Given the description of an element on the screen output the (x, y) to click on. 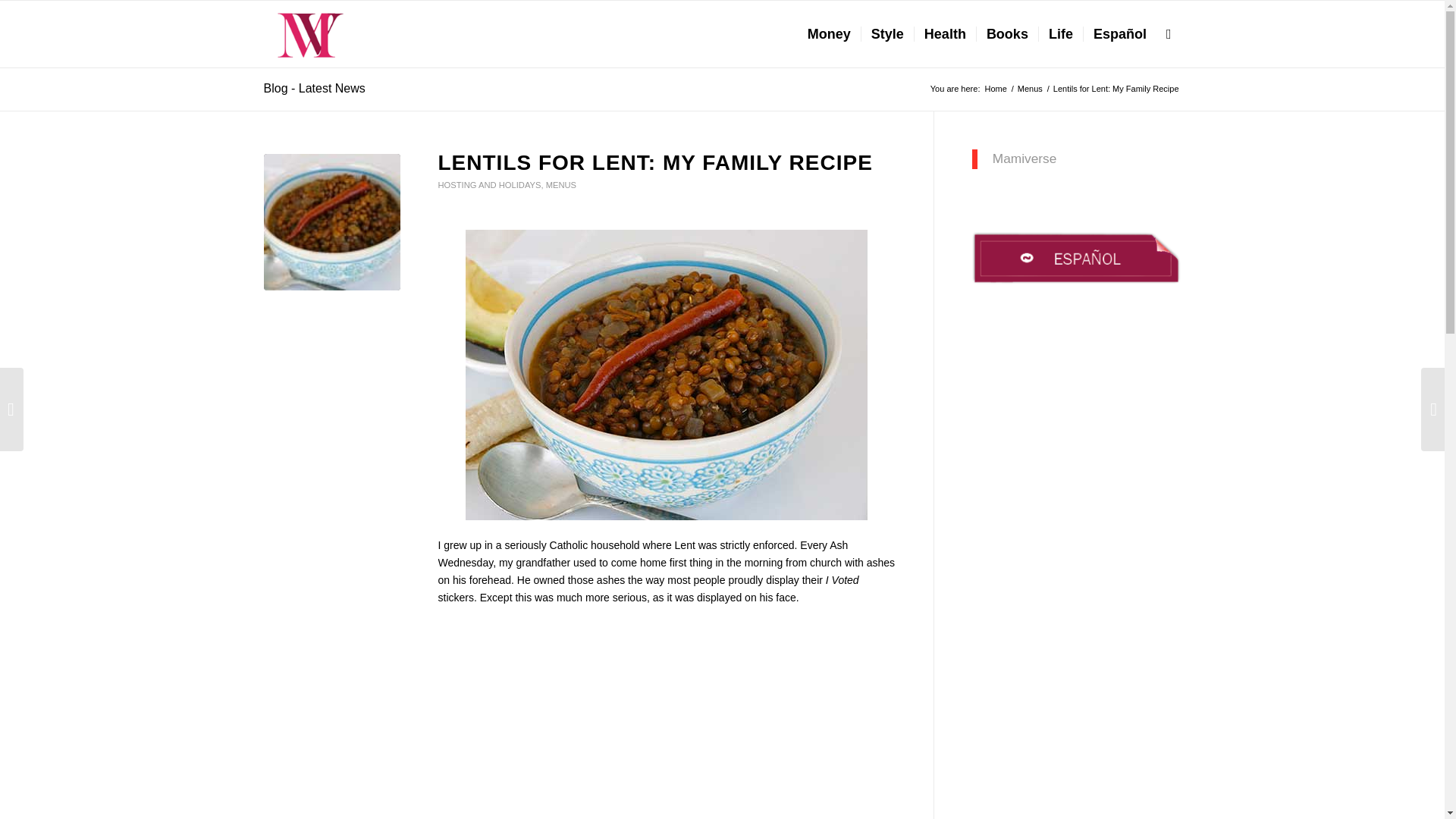
Permanent Link: Blog - Latest News (314, 88)
LENTILS FOR LENT: MY FAMILY RECIPE (655, 162)
Menus (1029, 89)
Money (828, 33)
3rd party ad content (666, 710)
Permanent Link: Lentils for Lent: My Family Recipe (655, 162)
HOSTING AND HOLIDAYS (489, 184)
Blog - Latest News (314, 88)
Mamiverse (995, 89)
Health (944, 33)
